Given the description of an element on the screen output the (x, y) to click on. 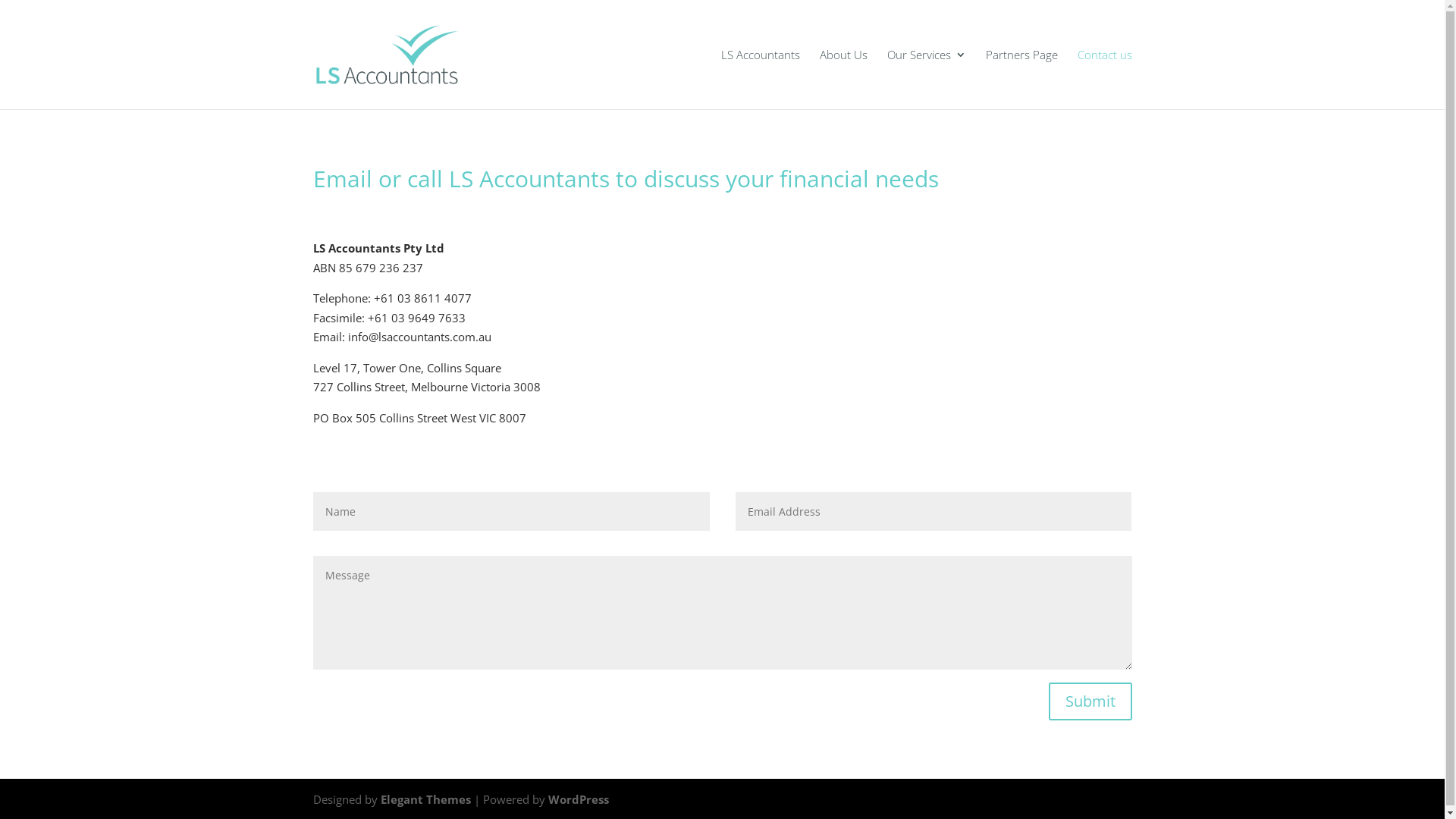
About Us Element type: text (842, 79)
LS Accountants Element type: text (759, 79)
Contact us Element type: text (1103, 79)
Elegant Themes Element type: text (425, 798)
Submit Element type: text (1089, 701)
Our Services Element type: text (926, 79)
Partners Page Element type: text (1021, 79)
WordPress Element type: text (577, 798)
